Given the description of an element on the screen output the (x, y) to click on. 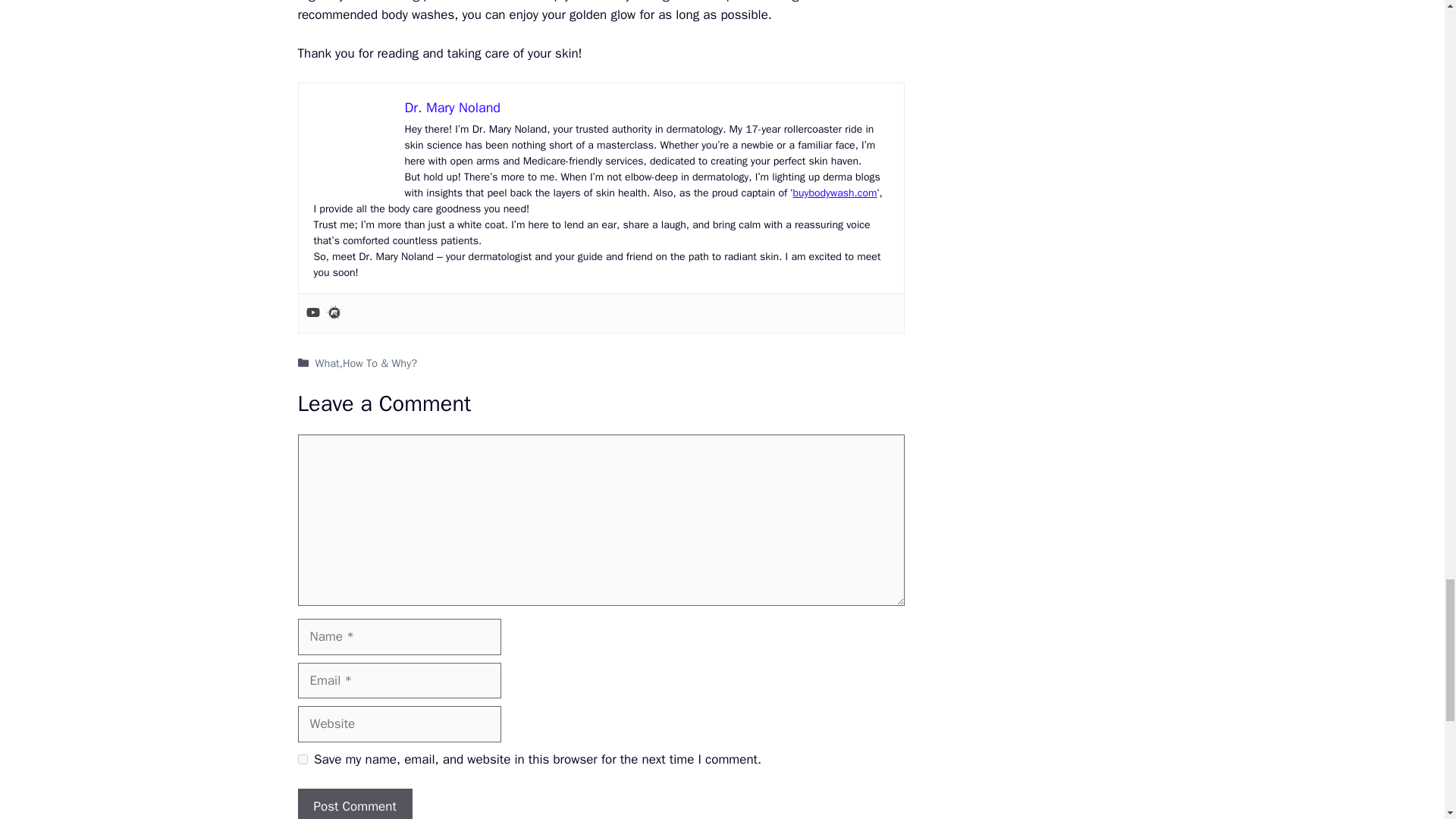
yes (302, 759)
Post Comment (354, 803)
buybodywash.com (834, 192)
Post Comment (354, 803)
Dr. Mary Noland (452, 107)
